Given the description of an element on the screen output the (x, y) to click on. 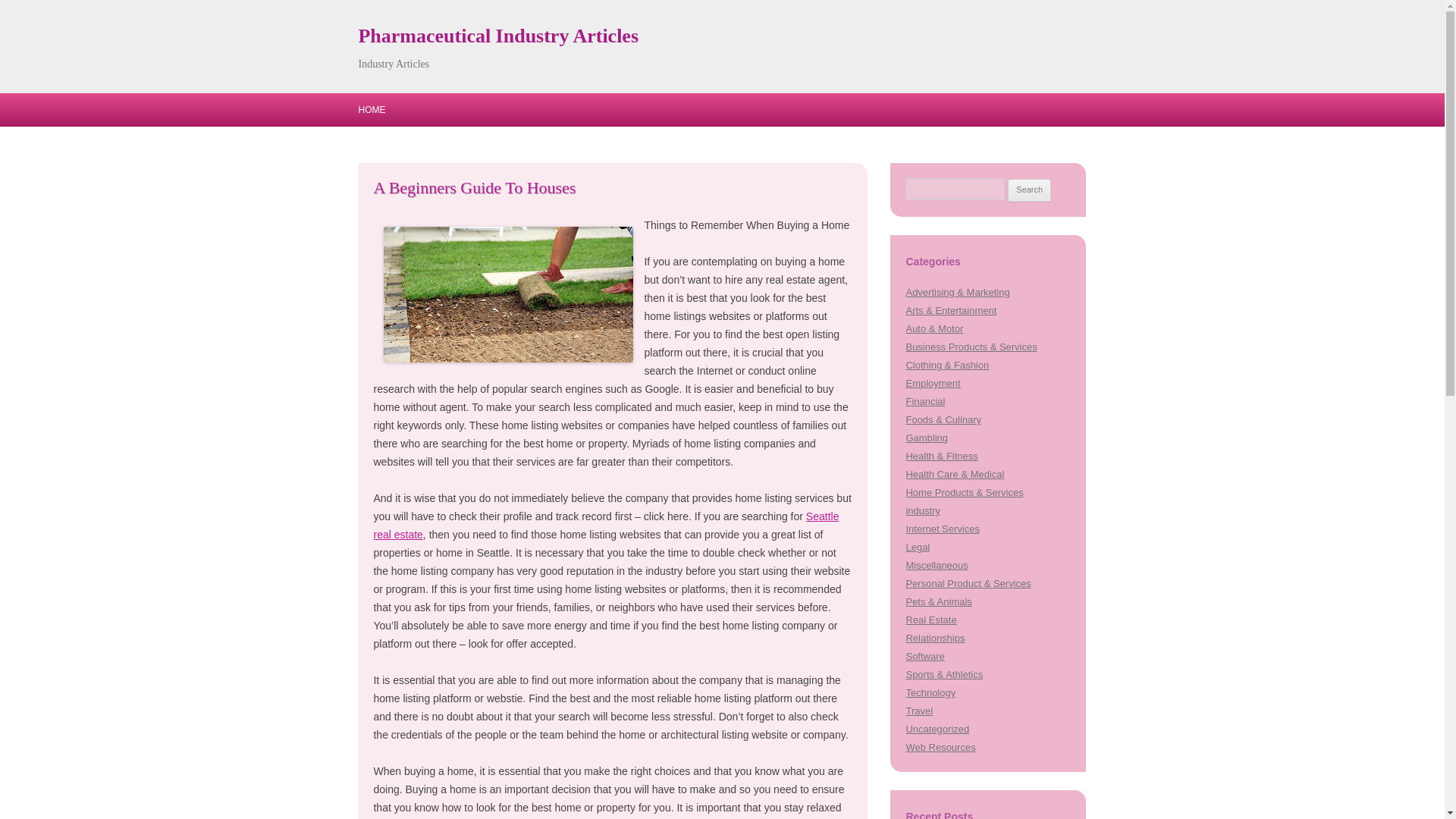
Legal (917, 546)
Search (1029, 190)
Technology (930, 692)
Relationships (934, 637)
Web Resources (940, 747)
Gambling (926, 437)
Internet Services (941, 528)
Financial (924, 401)
